Given the description of an element on the screen output the (x, y) to click on. 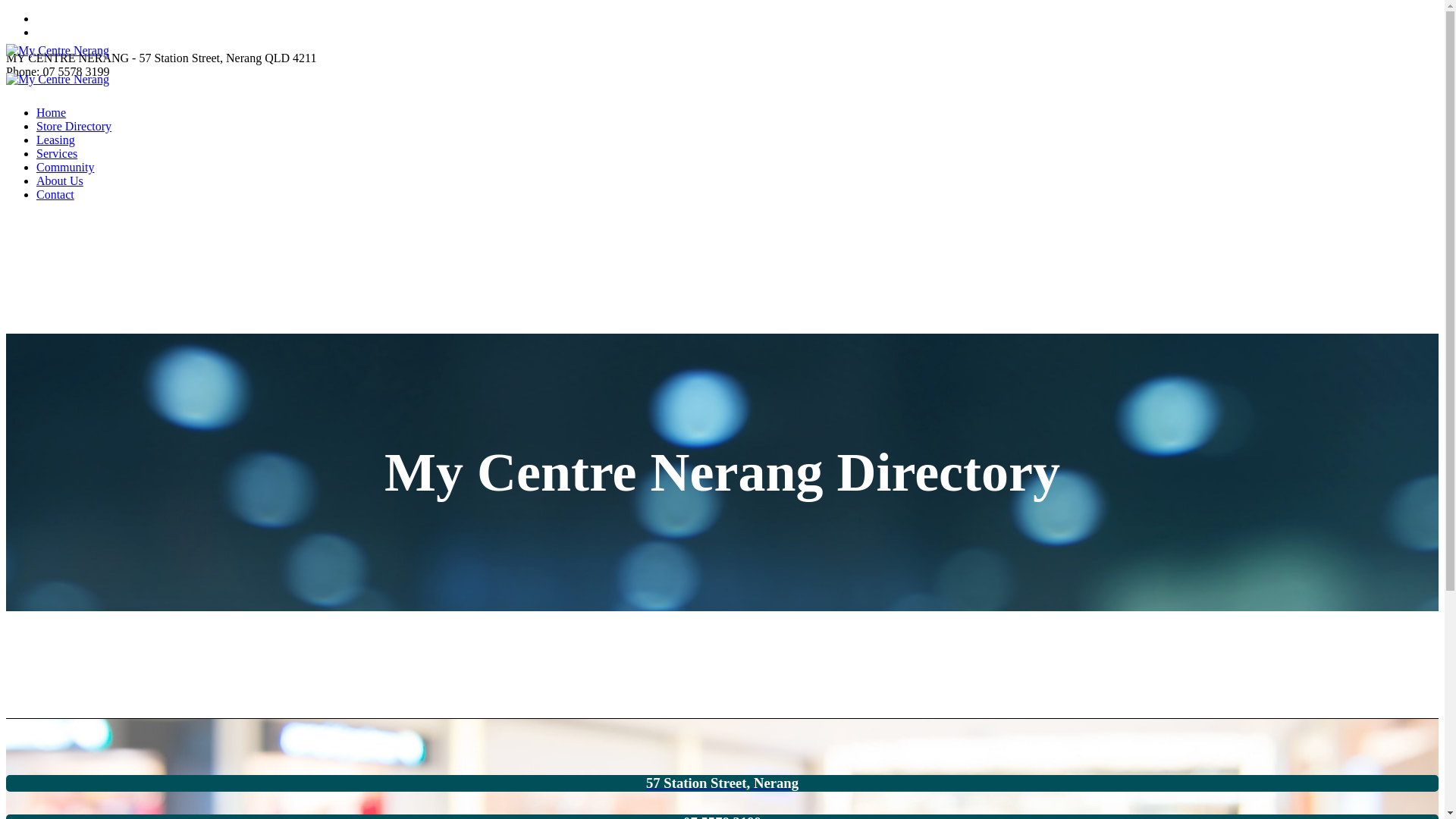
Store Directory Element type: text (73, 125)
About Us Element type: text (59, 180)
Services Element type: text (56, 153)
Contact Element type: text (55, 194)
Home Element type: text (50, 112)
My Centre Nerang Element type: hover (57, 64)
57 Station Street, Nerang Element type: text (722, 783)
Leasing Element type: text (55, 139)
Community Element type: text (65, 166)
